Given the description of an element on the screen output the (x, y) to click on. 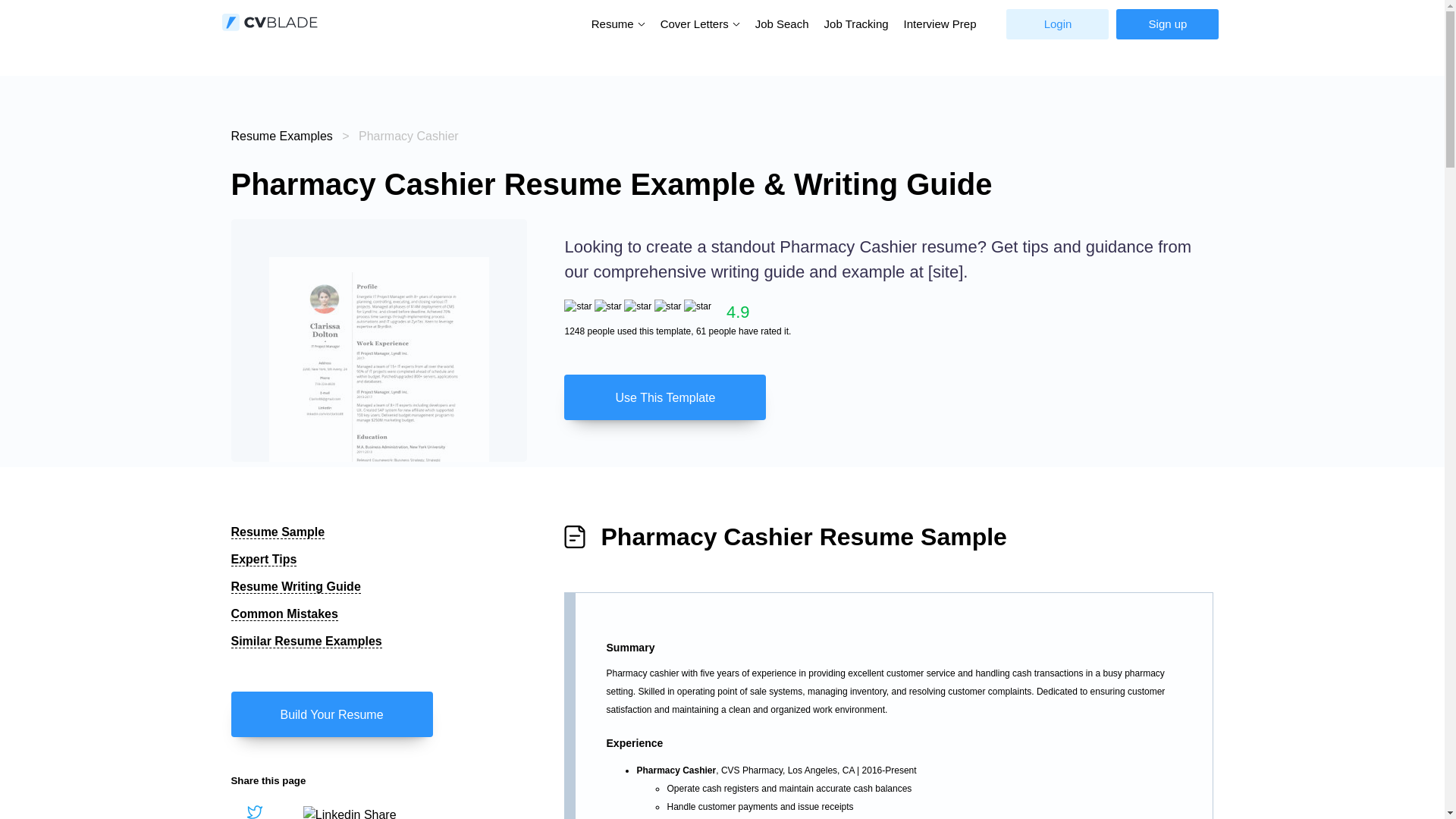
Resume (614, 23)
Resume Sample (277, 531)
Job Tracking (856, 23)
Use This Template (888, 397)
Sign up (1167, 24)
Job Seach (782, 23)
Interview Prep (940, 23)
Cover Letters (695, 23)
Use This Template (664, 397)
Login (1057, 24)
